Given the description of an element on the screen output the (x, y) to click on. 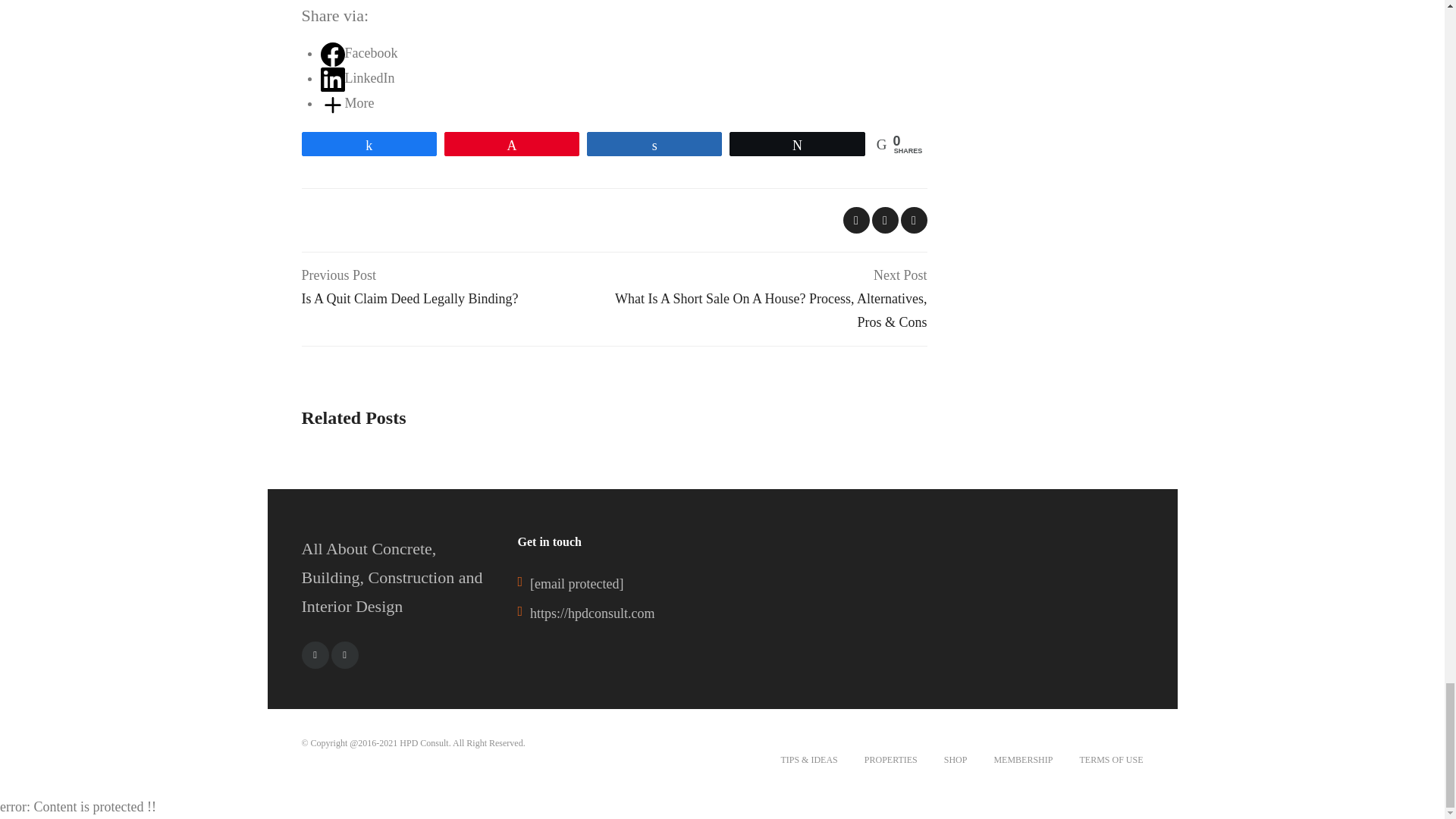
Facebook (315, 655)
Facebook (358, 52)
LinkedIn (357, 77)
More (347, 102)
Twitter (344, 655)
